Given the description of an element on the screen output the (x, y) to click on. 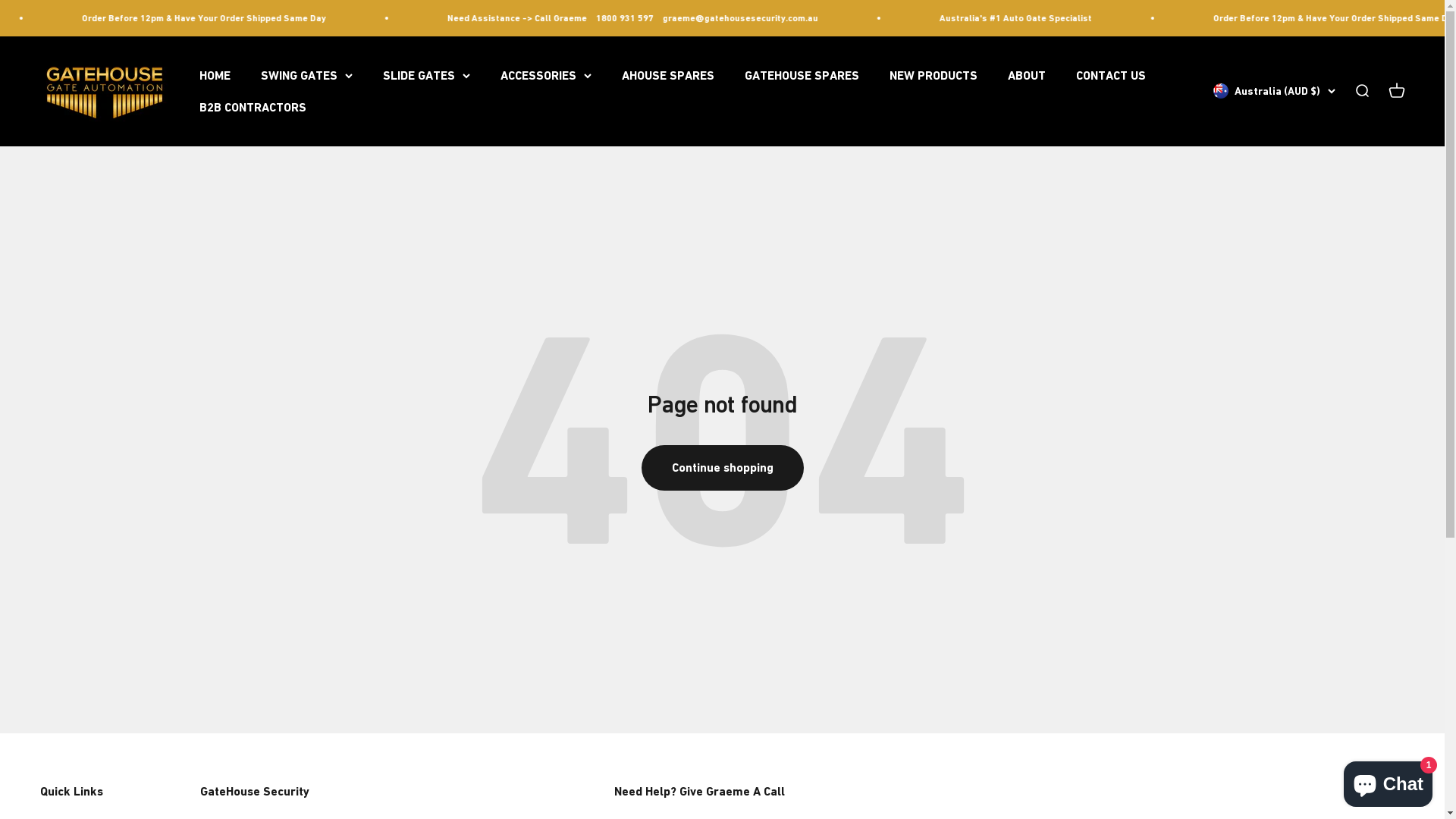
Australia (AUD $) Element type: text (1274, 91)
NEW PRODUCTS Element type: text (932, 75)
Shopify online store chat Element type: hover (1388, 780)
B2B CONTRACTORS Element type: text (251, 107)
AHOUSE SPARES Element type: text (667, 75)
Continue shopping Element type: text (722, 467)
GATEHOUSE SPARES Element type: text (801, 75)
HOME Element type: text (213, 75)
gatehousesecurity Element type: text (103, 91)
Open cart
0 Element type: text (1395, 91)
Open search Element type: text (1360, 91)
CONTACT US Element type: text (1110, 75)
ABOUT Element type: text (1025, 75)
